Given the description of an element on the screen output the (x, y) to click on. 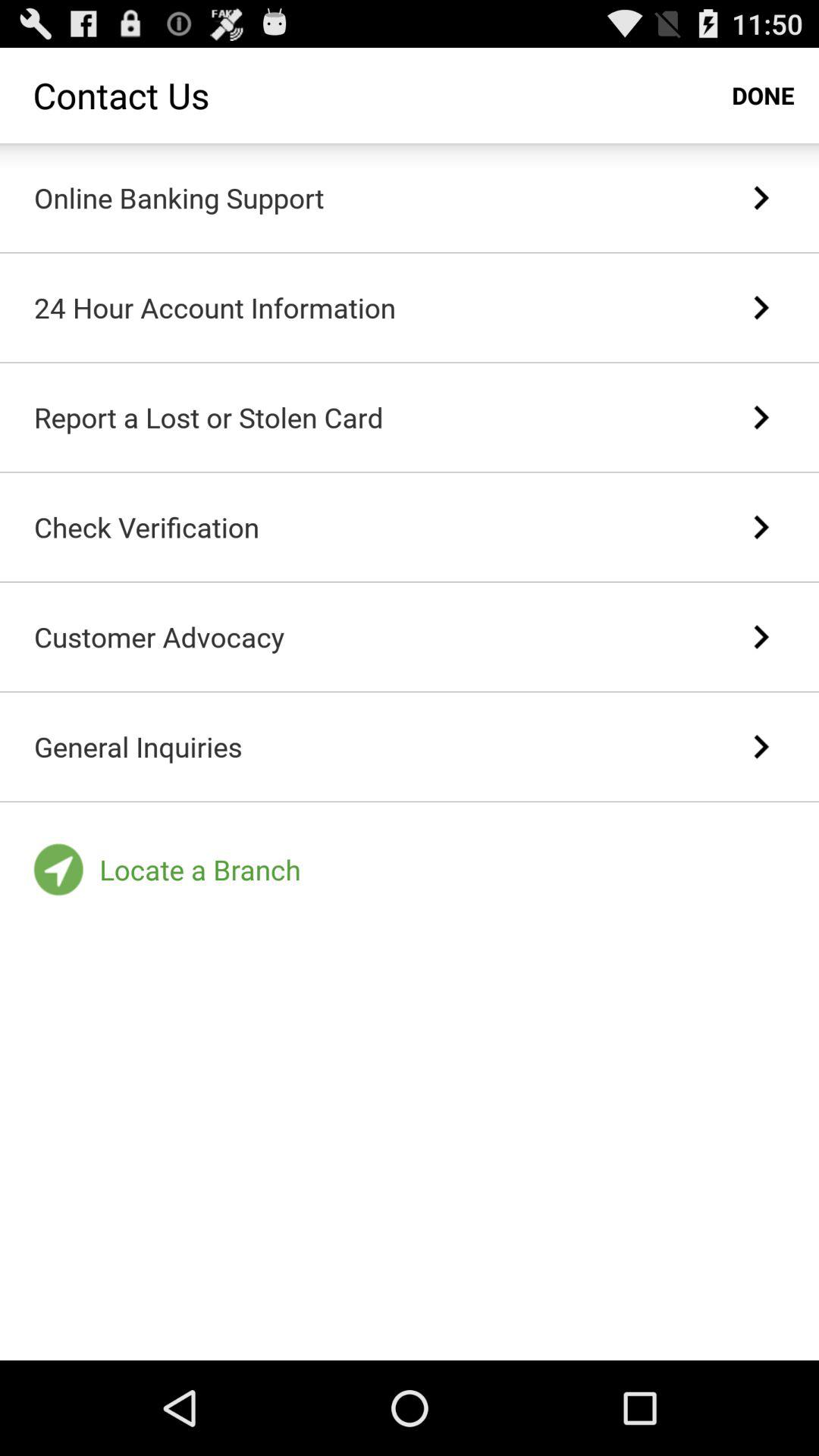
turn off the general inquiries item (138, 746)
